Given the description of an element on the screen output the (x, y) to click on. 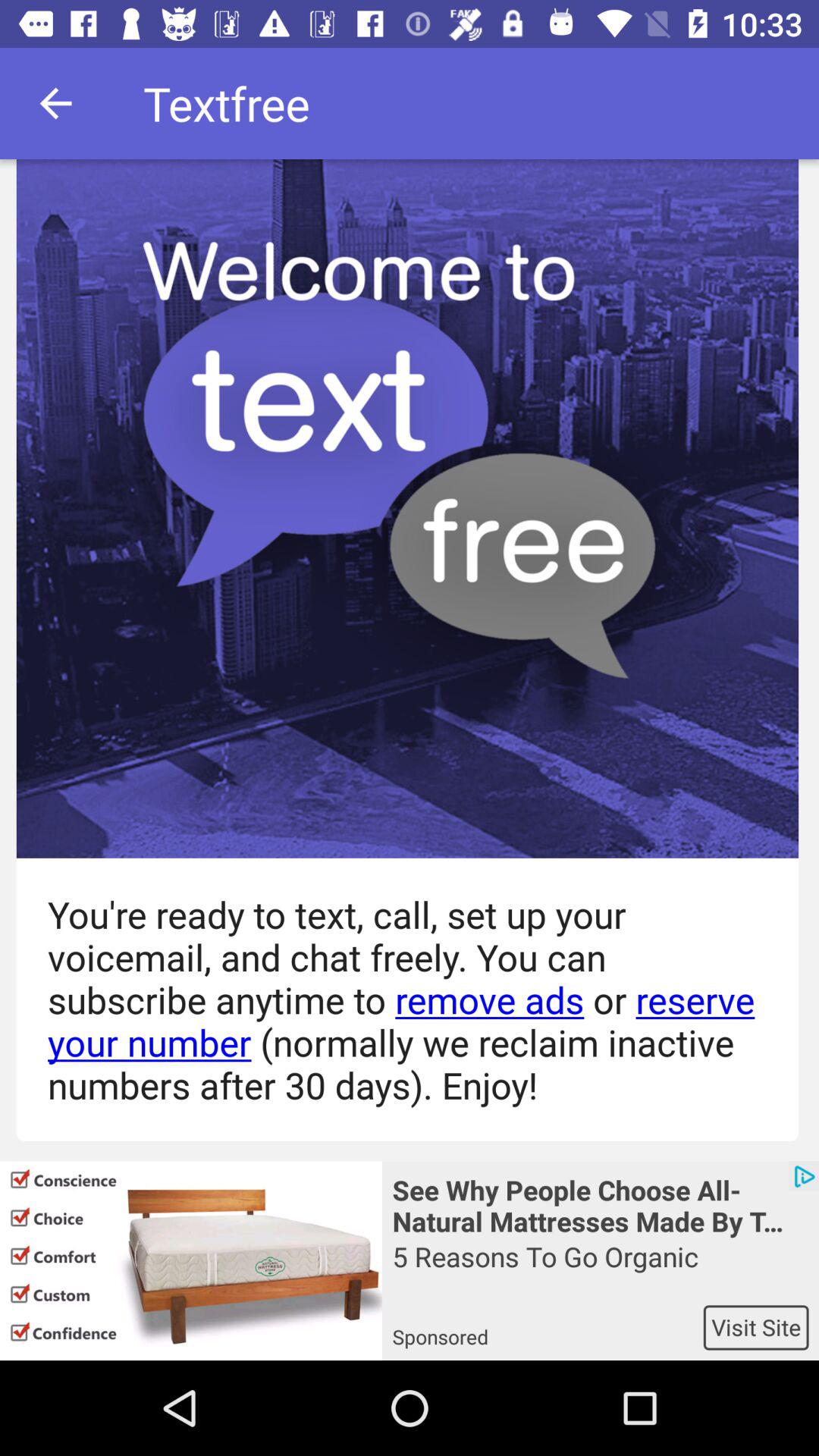
select icon to the right of the sponsored item (755, 1327)
